Given the description of an element on the screen output the (x, y) to click on. 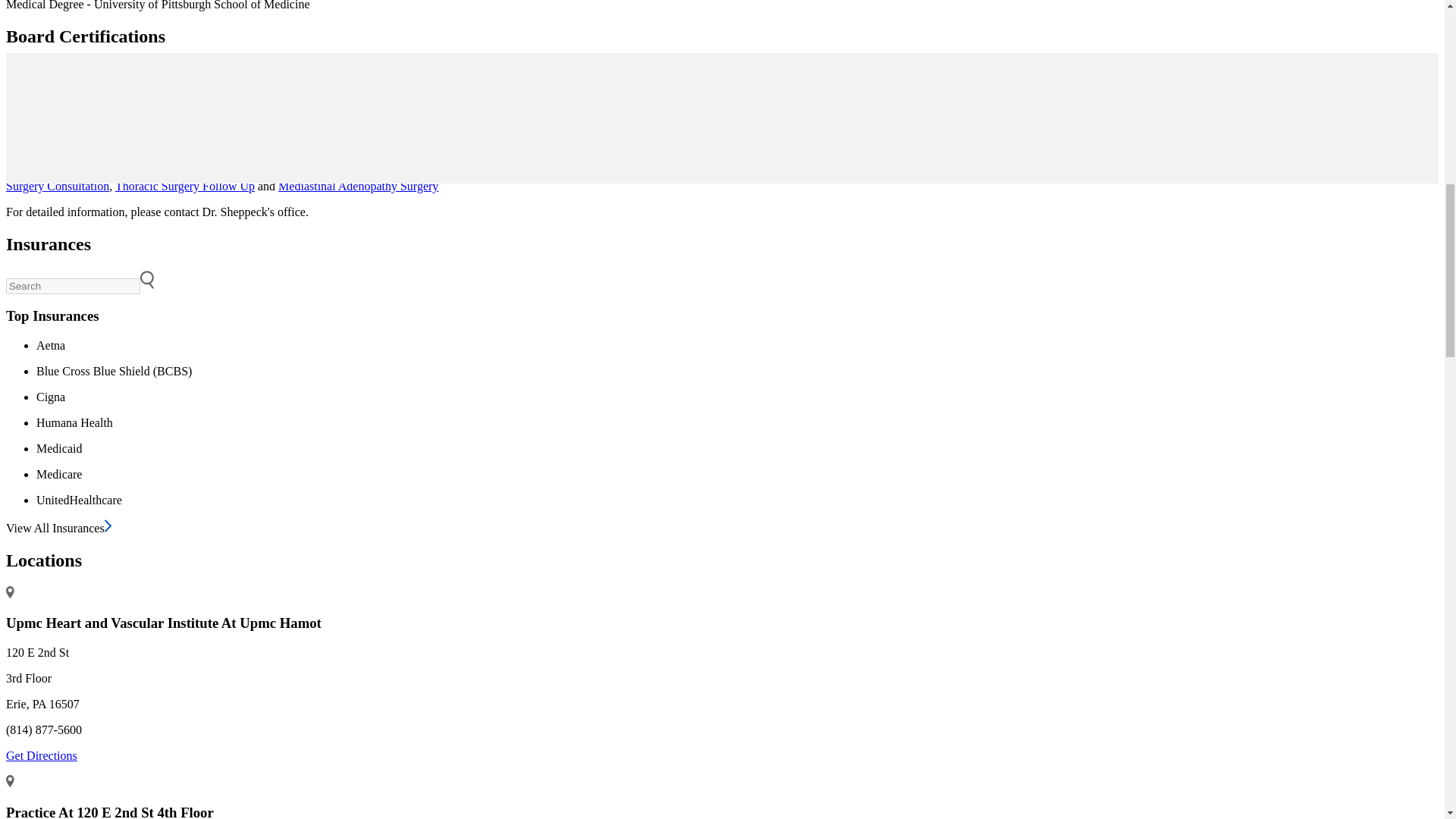
Varicose Vein Treatment (732, 158)
Peripheral Artery Bypass - Leg (334, 172)
Renal Artery Stent (662, 172)
Endovenous Laser Treatment of Varicose Veins (552, 158)
Vascular Surgery Consultation (943, 158)
Vascular Ultrasound (919, 172)
Robotic Thoracic Surgery Consultation (1283, 172)
Thoracic Surgery Follow Up (184, 185)
Limb Salvage Surgery (469, 172)
Arteriovenous Graft Placement (788, 172)
Vascular Care Second Opinion (1099, 158)
Aortic Stent Grafts (709, 165)
Atherectomy (220, 172)
Vascular Laparoscopic Surgery Follow Up (1078, 172)
Thoracic Surgery Consultation (716, 179)
